Given the description of an element on the screen output the (x, y) to click on. 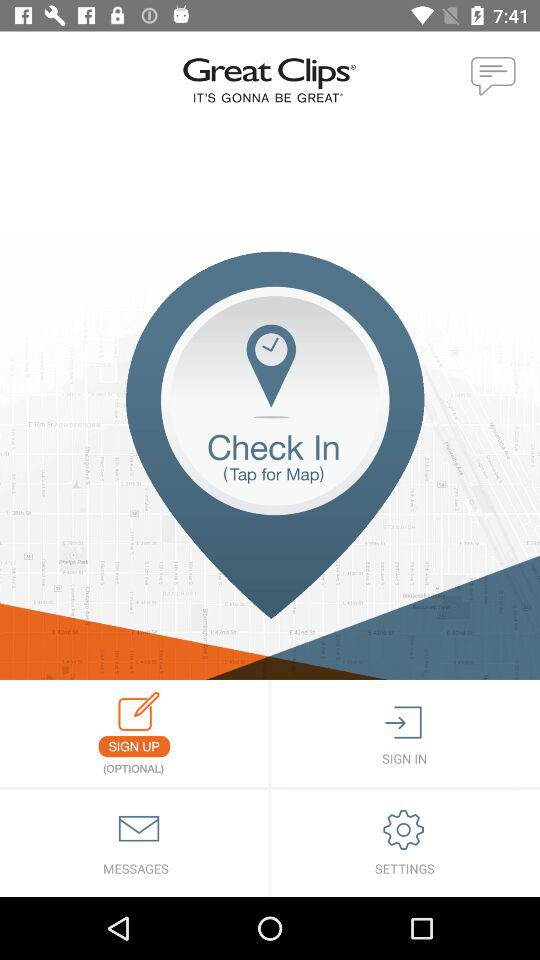
open settings (405, 843)
